Given the description of an element on the screen output the (x, y) to click on. 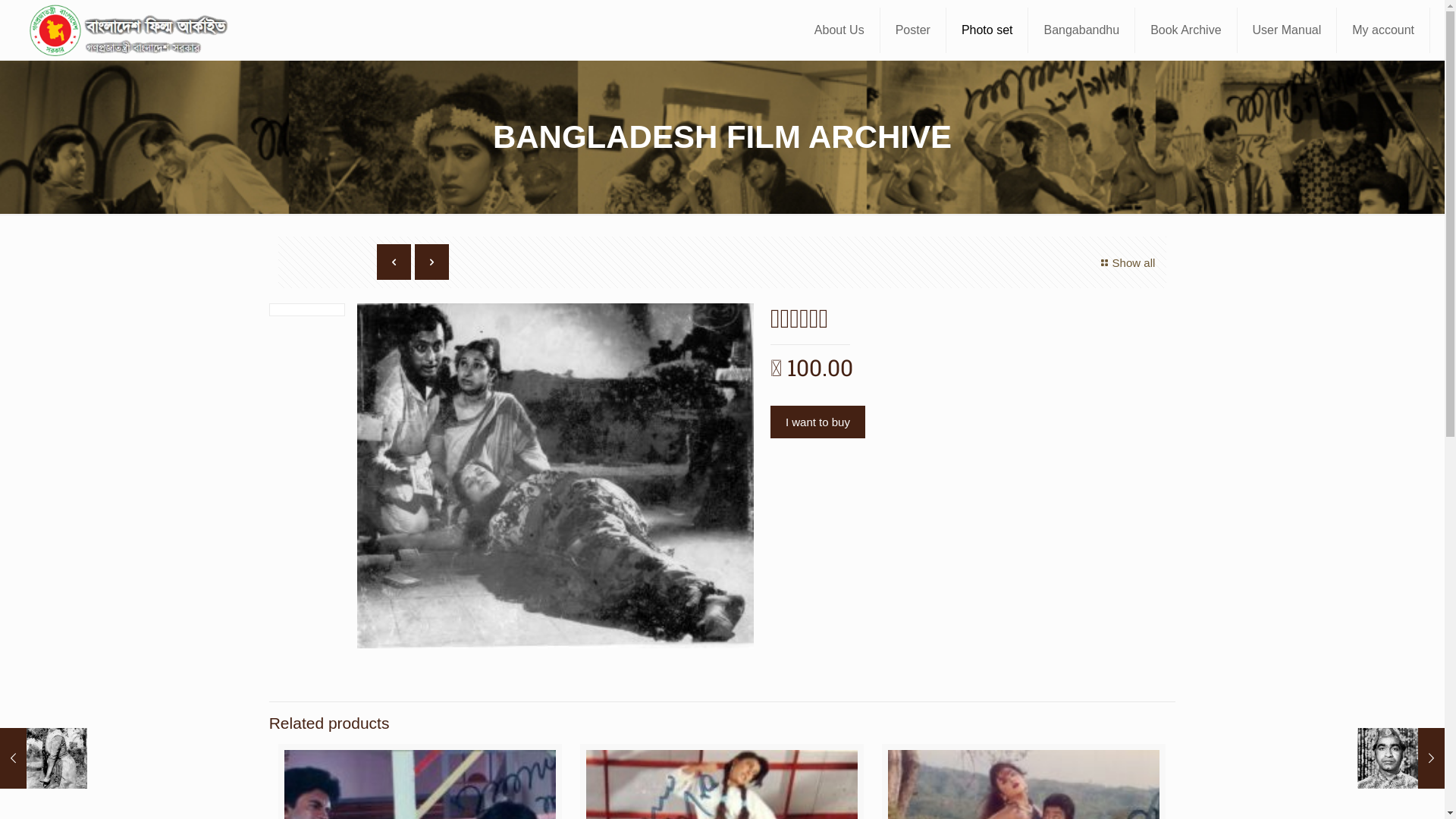
Poster Element type: text (913, 30)
User Manual Element type: text (1287, 30)
Book Archive Element type: text (1185, 30)
Photo set Element type: text (987, 30)
My account Element type: text (1383, 30)
Bangladesh Film Archive Element type: hover (131, 30)
I want to buy Element type: text (817, 421)
Bangabandhu Element type: text (1081, 30)
About Us Element type: text (839, 30)
Show all Element type: text (1125, 262)
